Given the description of an element on the screen output the (x, y) to click on. 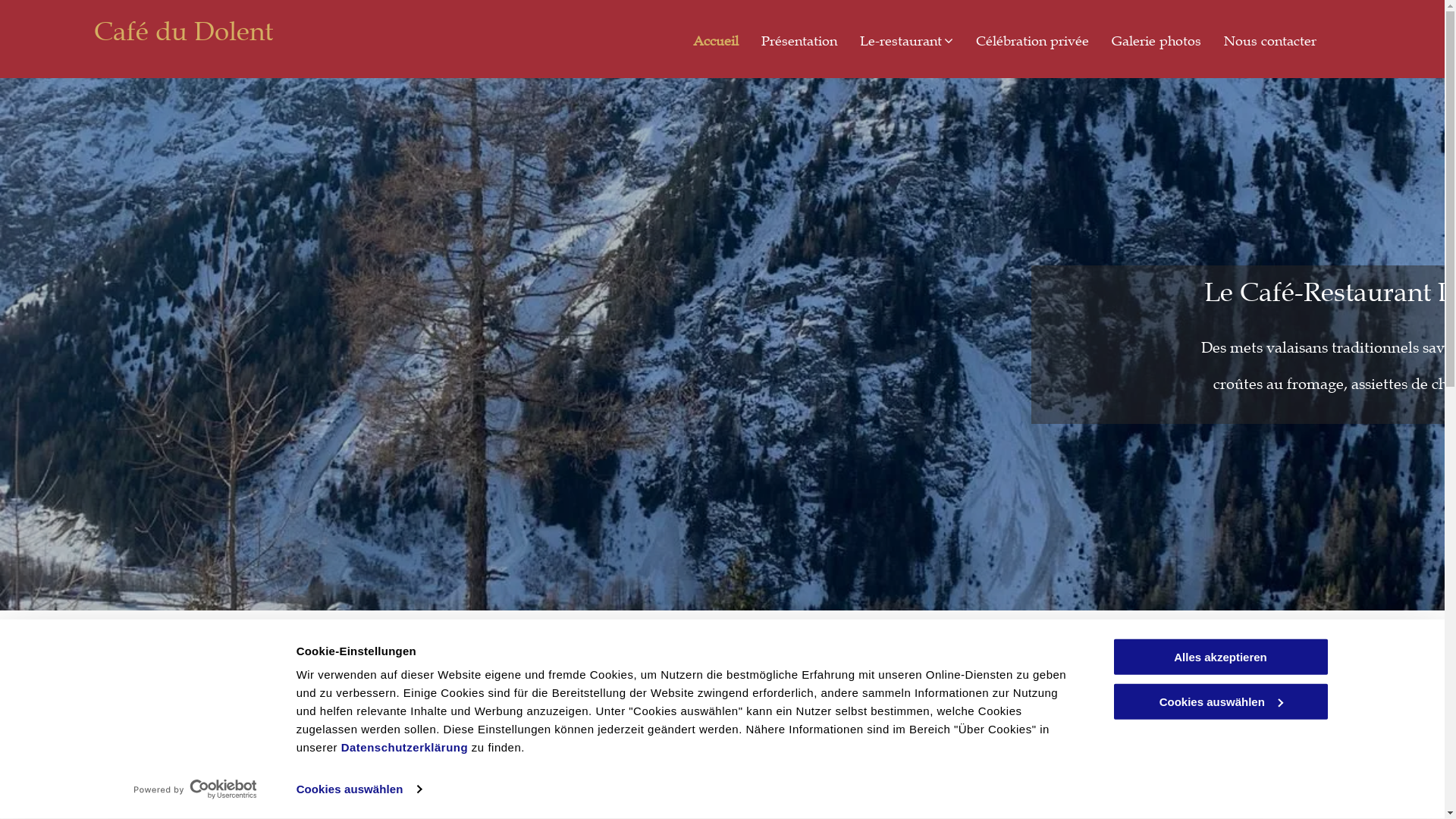
Accueil Element type: text (715, 40)
Galerie photos Element type: text (1156, 40)
Nous contacter Element type: text (1269, 40)
Alles akzeptieren Element type: text (1219, 656)
Le-restaurant Element type: text (906, 40)
